Given the description of an element on the screen output the (x, y) to click on. 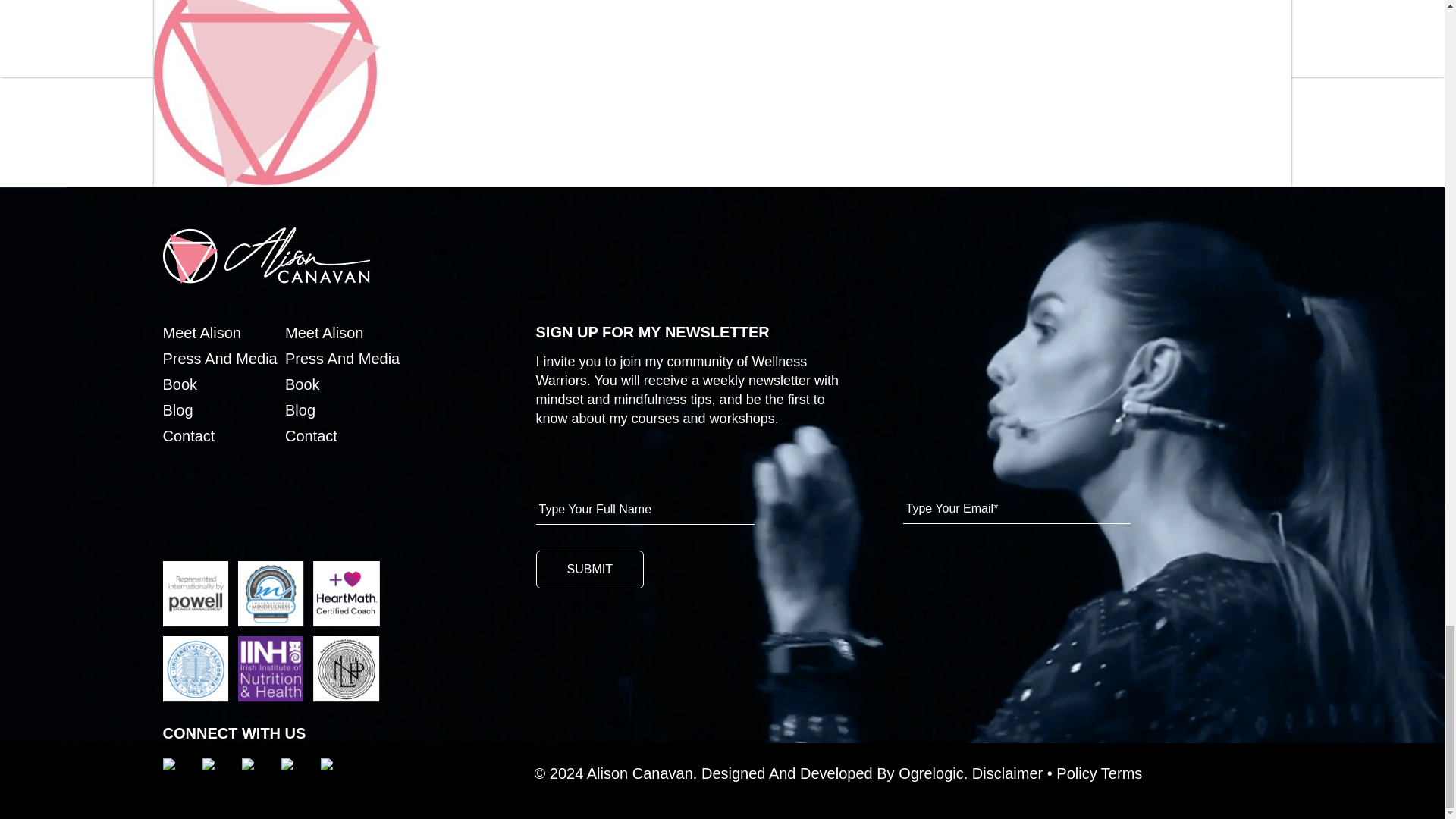
Submit (589, 569)
